Given the description of an element on the screen output the (x, y) to click on. 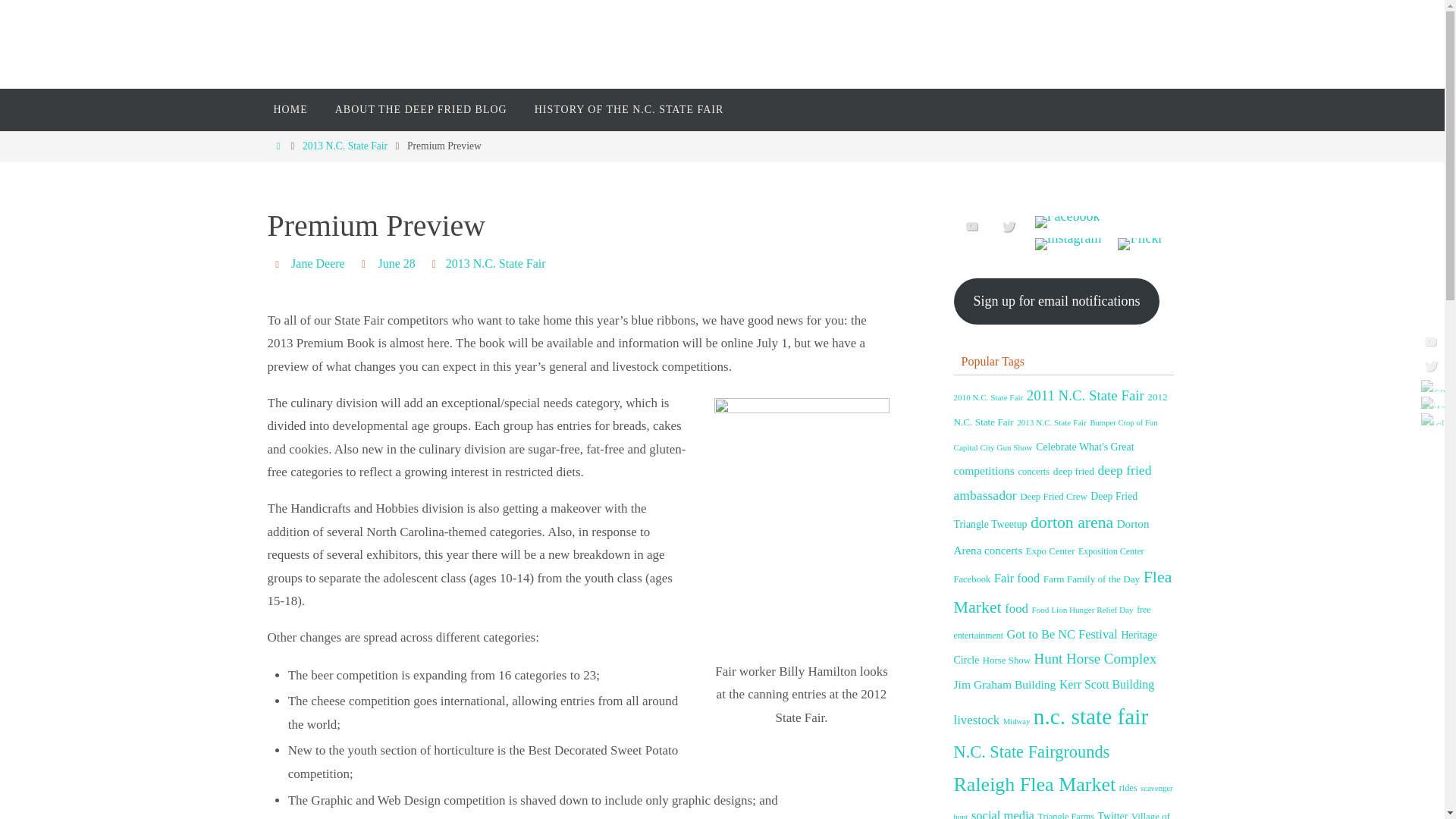
2013 N.C. State Fair (344, 145)
Home (277, 145)
Sign up for email notifications (1056, 301)
Jane Deere (318, 264)
ABOUT THE DEEP FRIED BLOG (421, 109)
Capital City Gun Show (992, 447)
June 28 (396, 264)
Bumper Crop of Fun (1123, 422)
HISTORY OF THE N.C. STATE FAIR (629, 109)
Facebook (1428, 385)
